Given the description of an element on the screen output the (x, y) to click on. 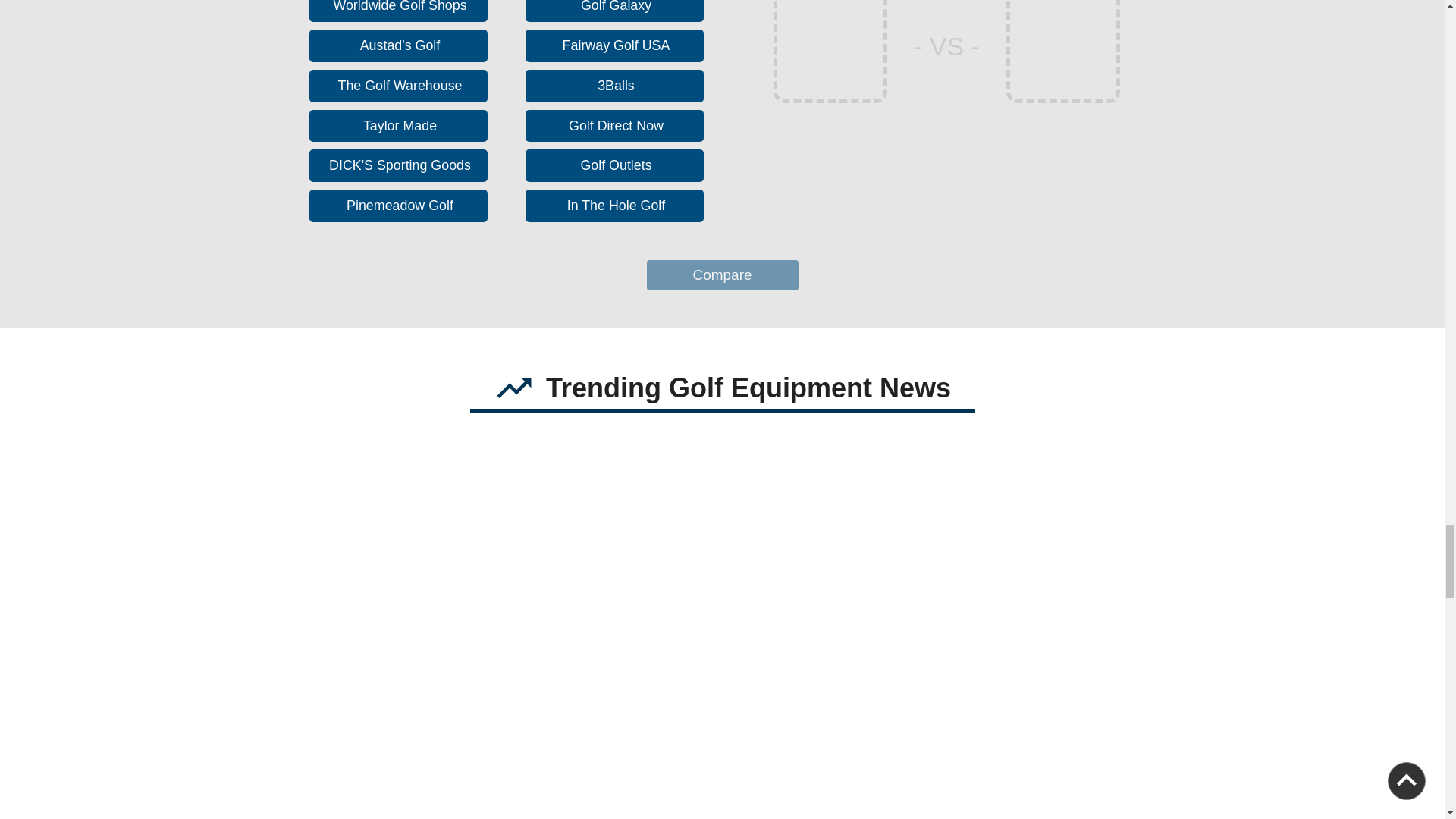
Compare (721, 275)
